Given the description of an element on the screen output the (x, y) to click on. 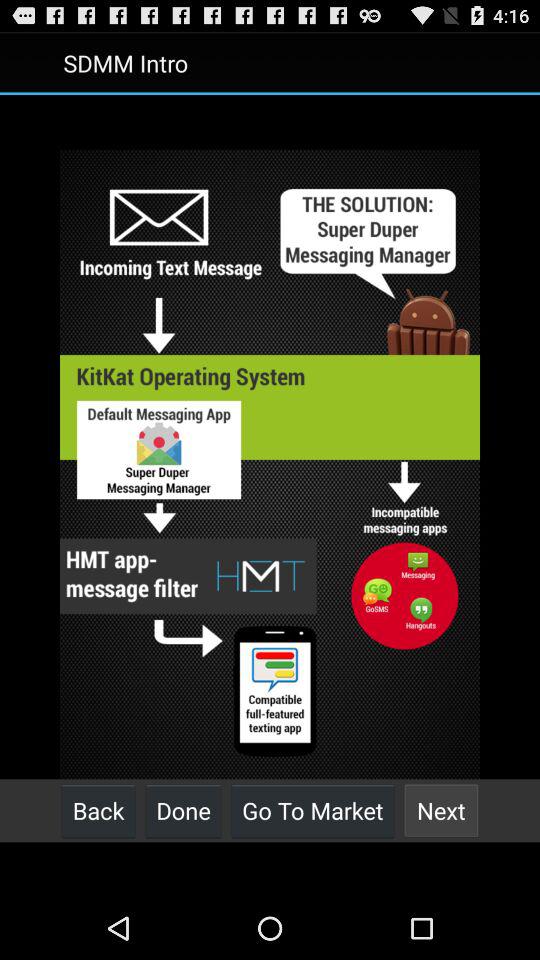
turn on next at the bottom right corner (441, 810)
